Given the description of an element on the screen output the (x, y) to click on. 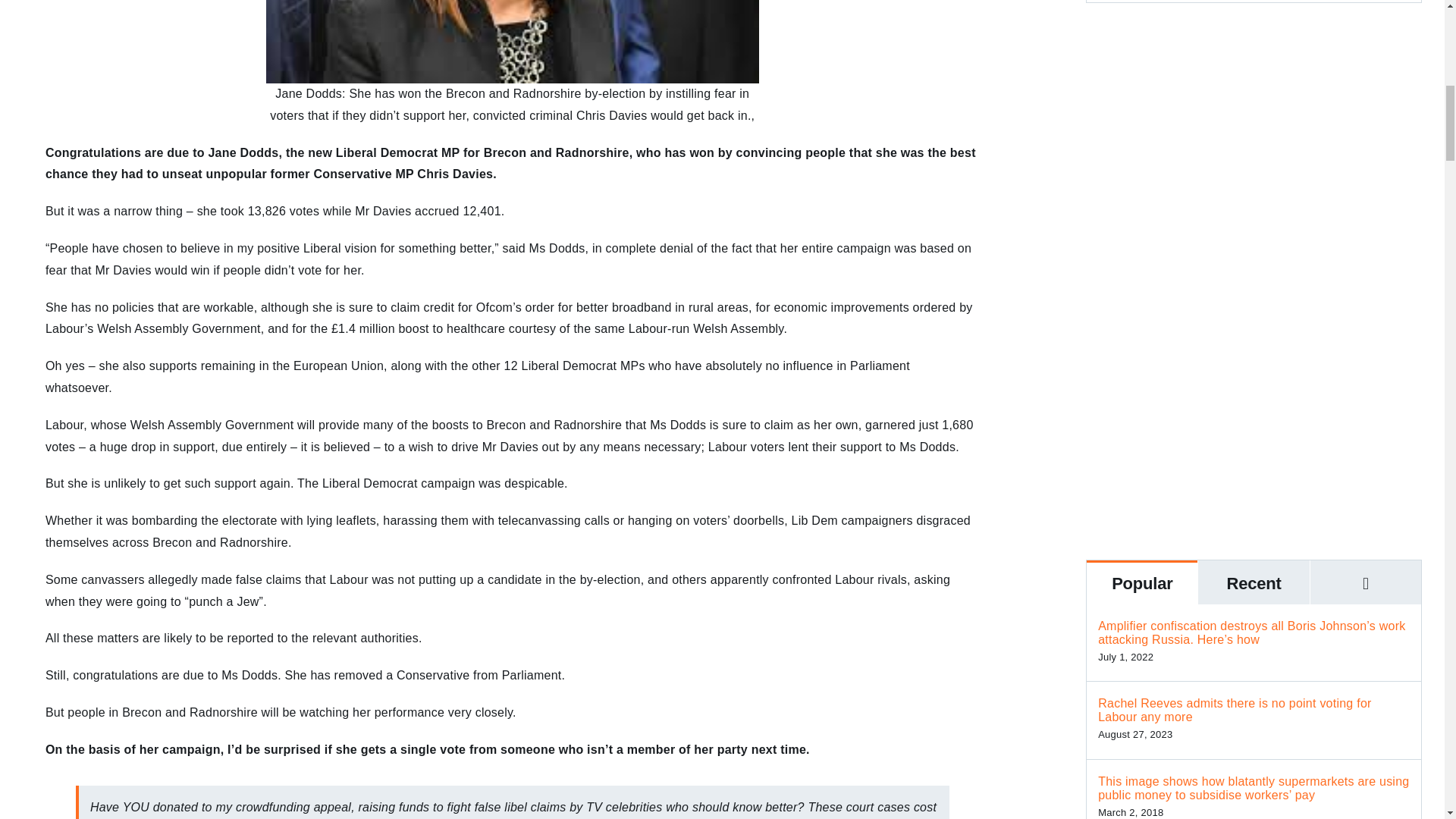
Advertisement (1254, 411)
